Given the description of an element on the screen output the (x, y) to click on. 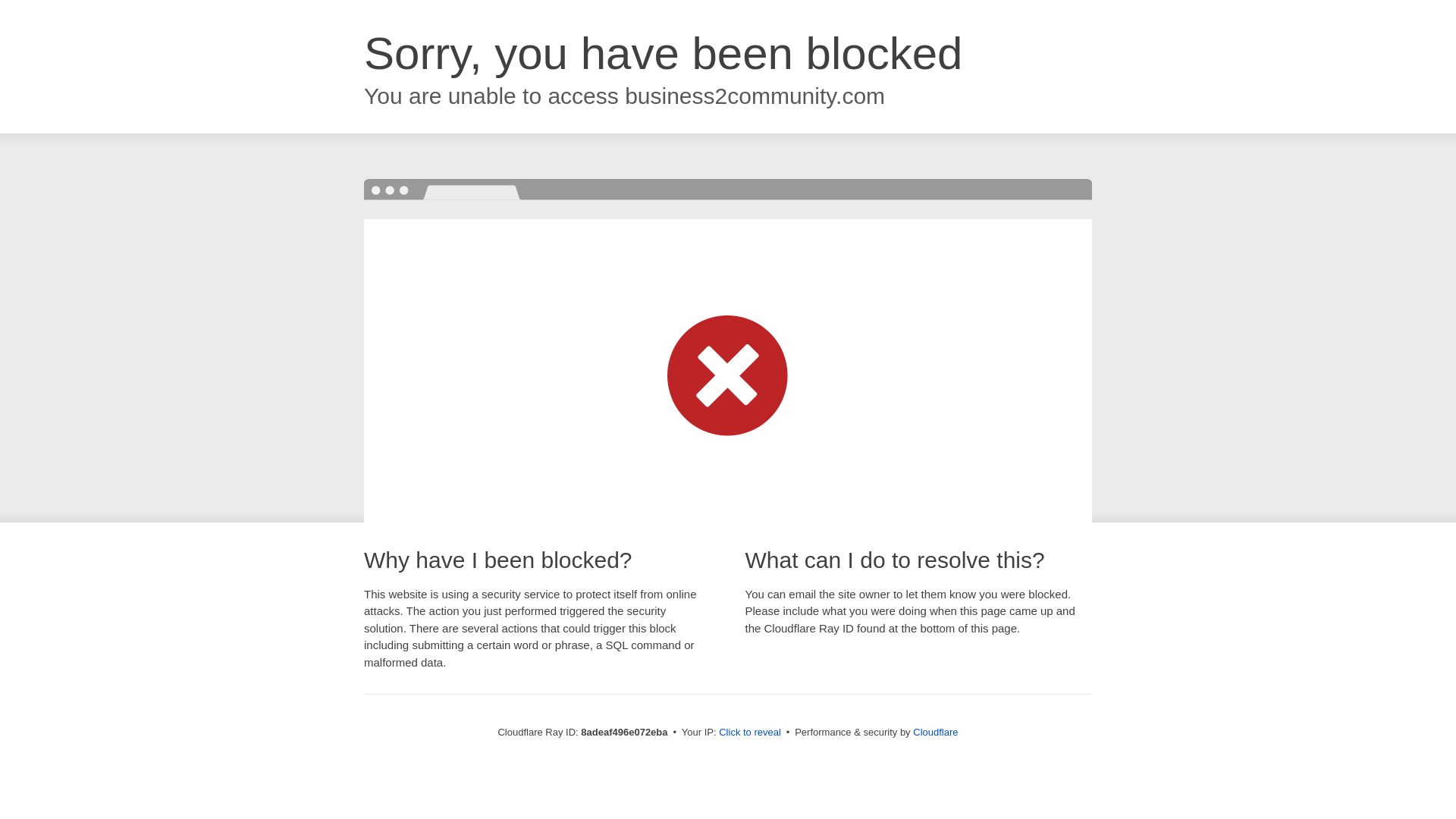
Click to reveal (749, 732)
Cloudflare (935, 731)
